Given the description of an element on the screen output the (x, y) to click on. 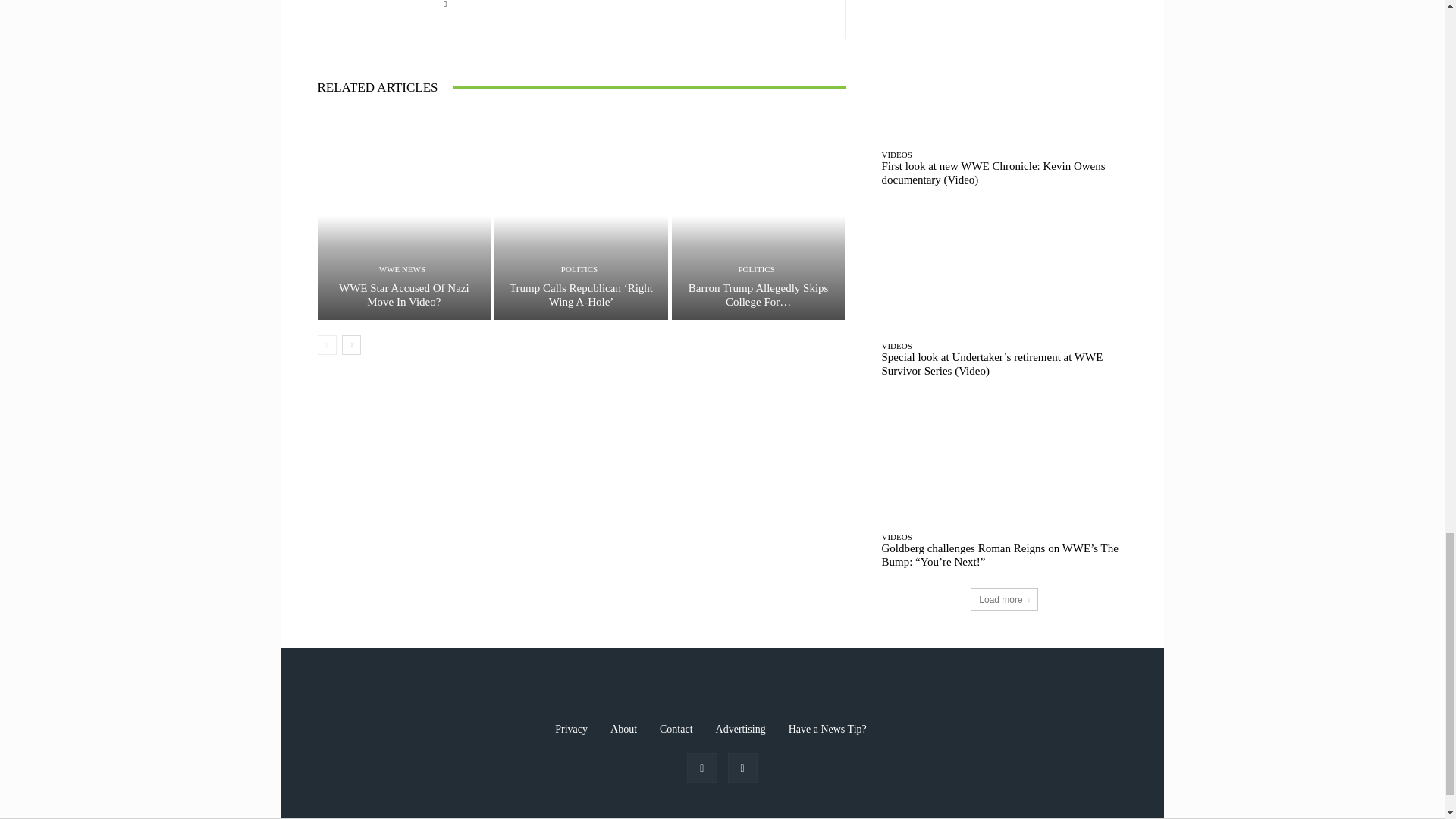
Amish Patel (379, 11)
Twitter (445, 3)
WWE Star Accused Of Nazi Move In Video? (403, 294)
